Given the description of an element on the screen output the (x, y) to click on. 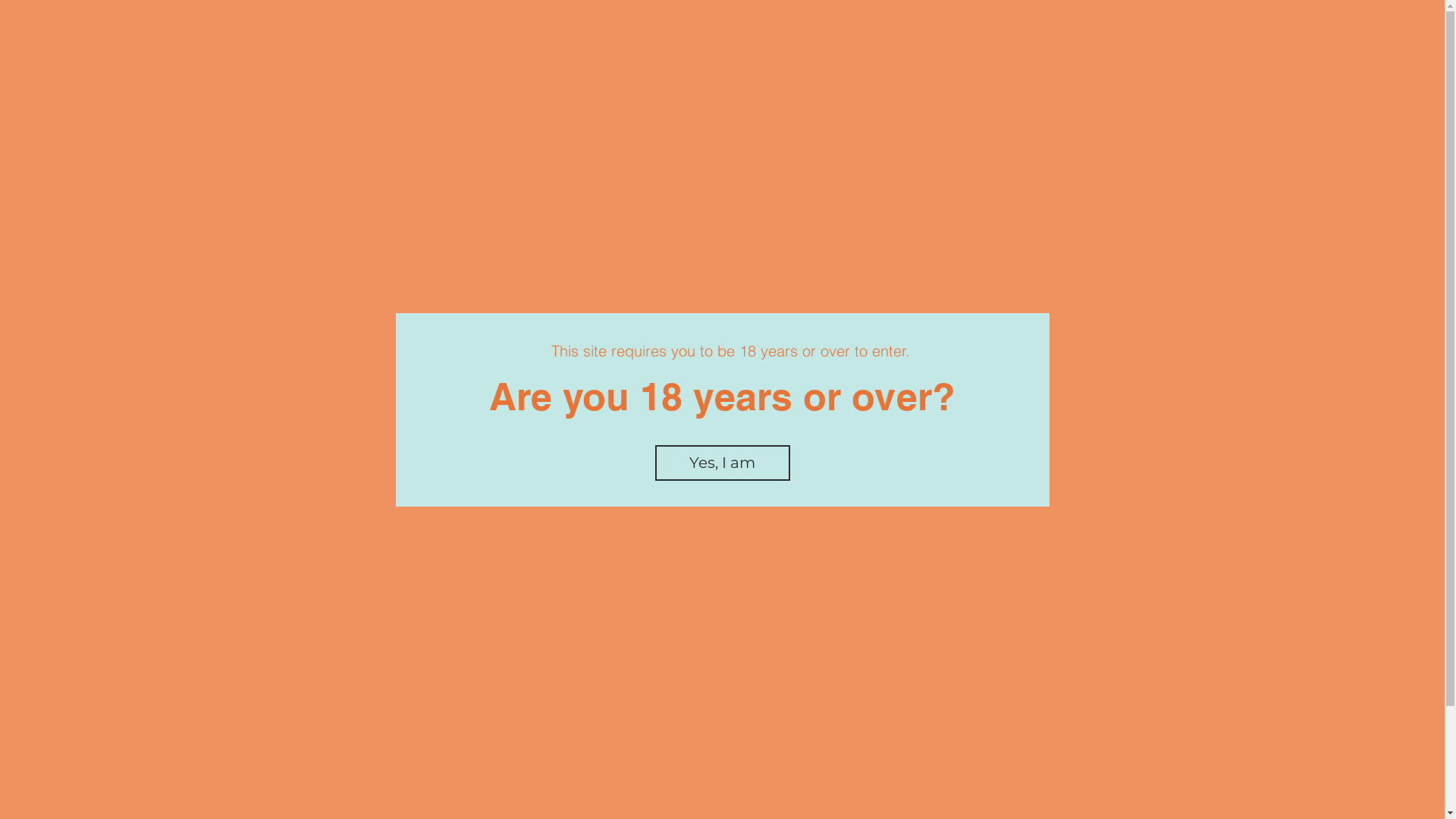
SUBSCRIBE Element type: text (939, 743)
info@lenswoodciderco.com.au Element type: text (580, 662)
0 Element type: text (997, 102)
Continue Browsing Element type: text (722, 407)
